Given the description of an element on the screen output the (x, y) to click on. 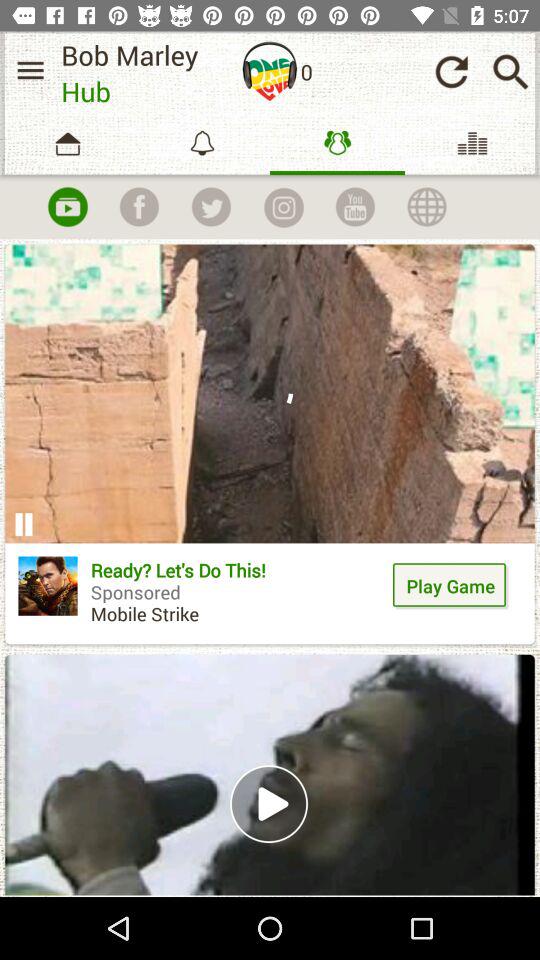
tap the item below the hub icon (139, 206)
